Given the description of an element on the screen output the (x, y) to click on. 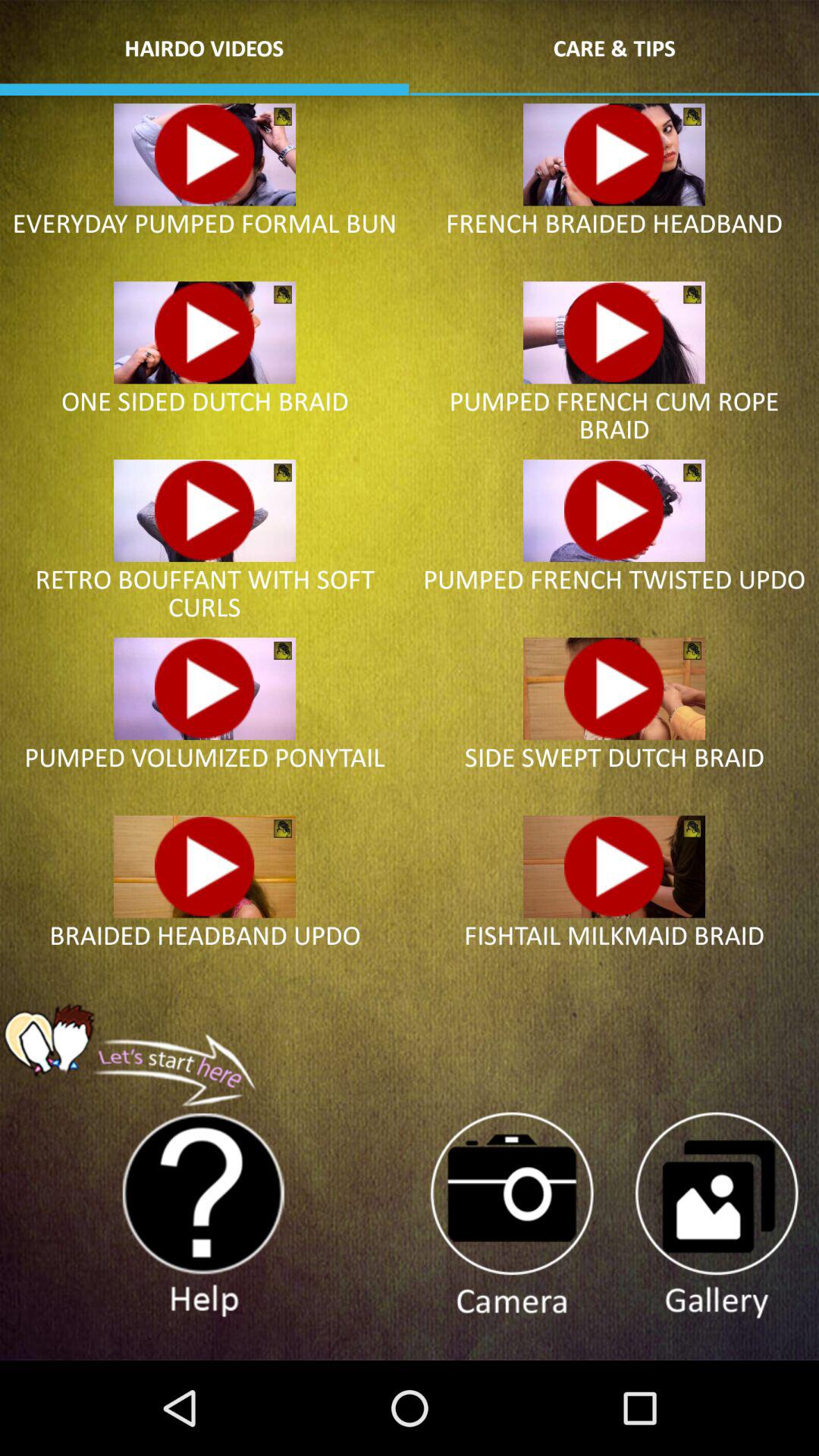
take photo within app (511, 1215)
